Given the description of an element on the screen output the (x, y) to click on. 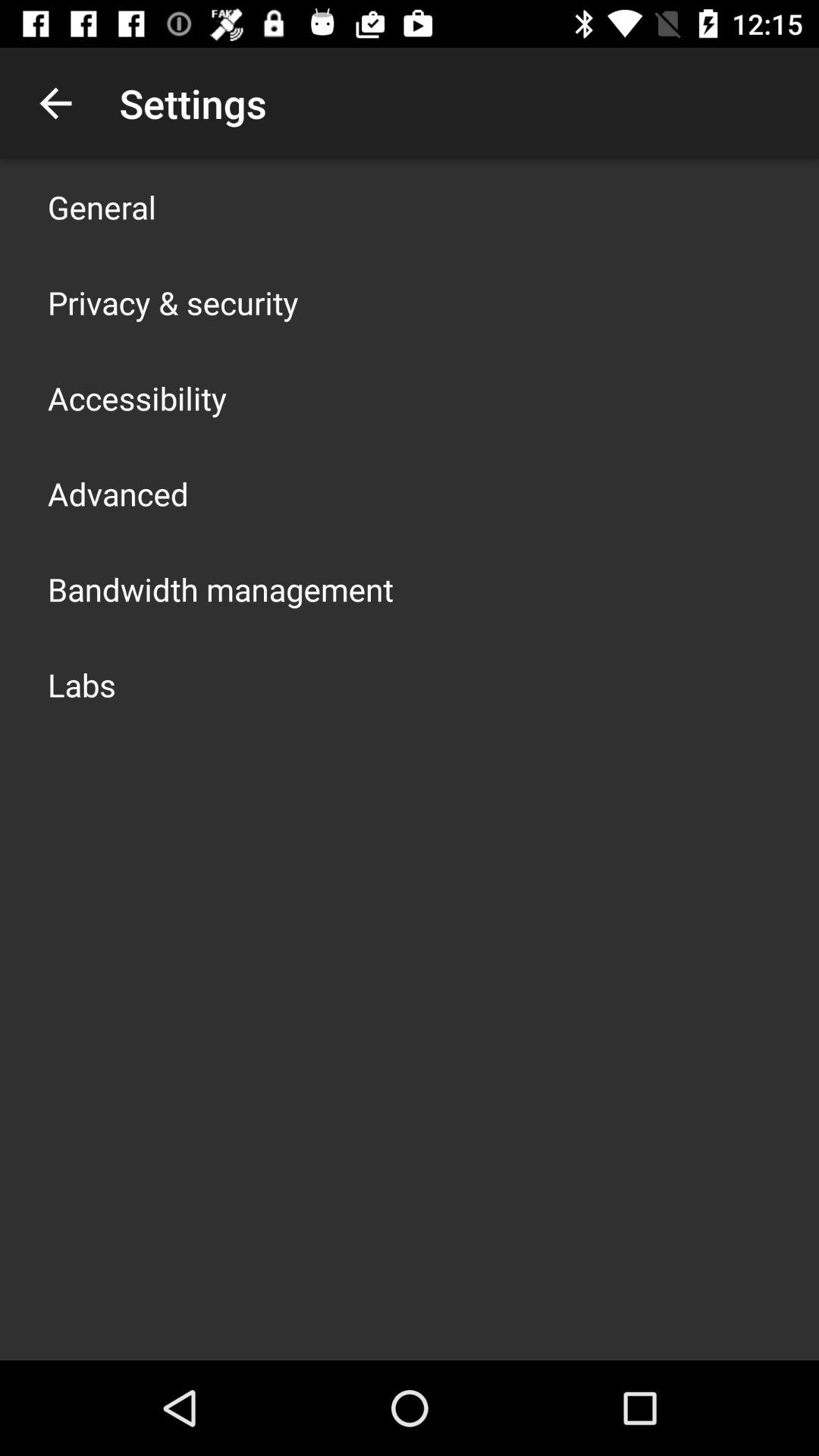
press icon below the general (172, 302)
